Given the description of an element on the screen output the (x, y) to click on. 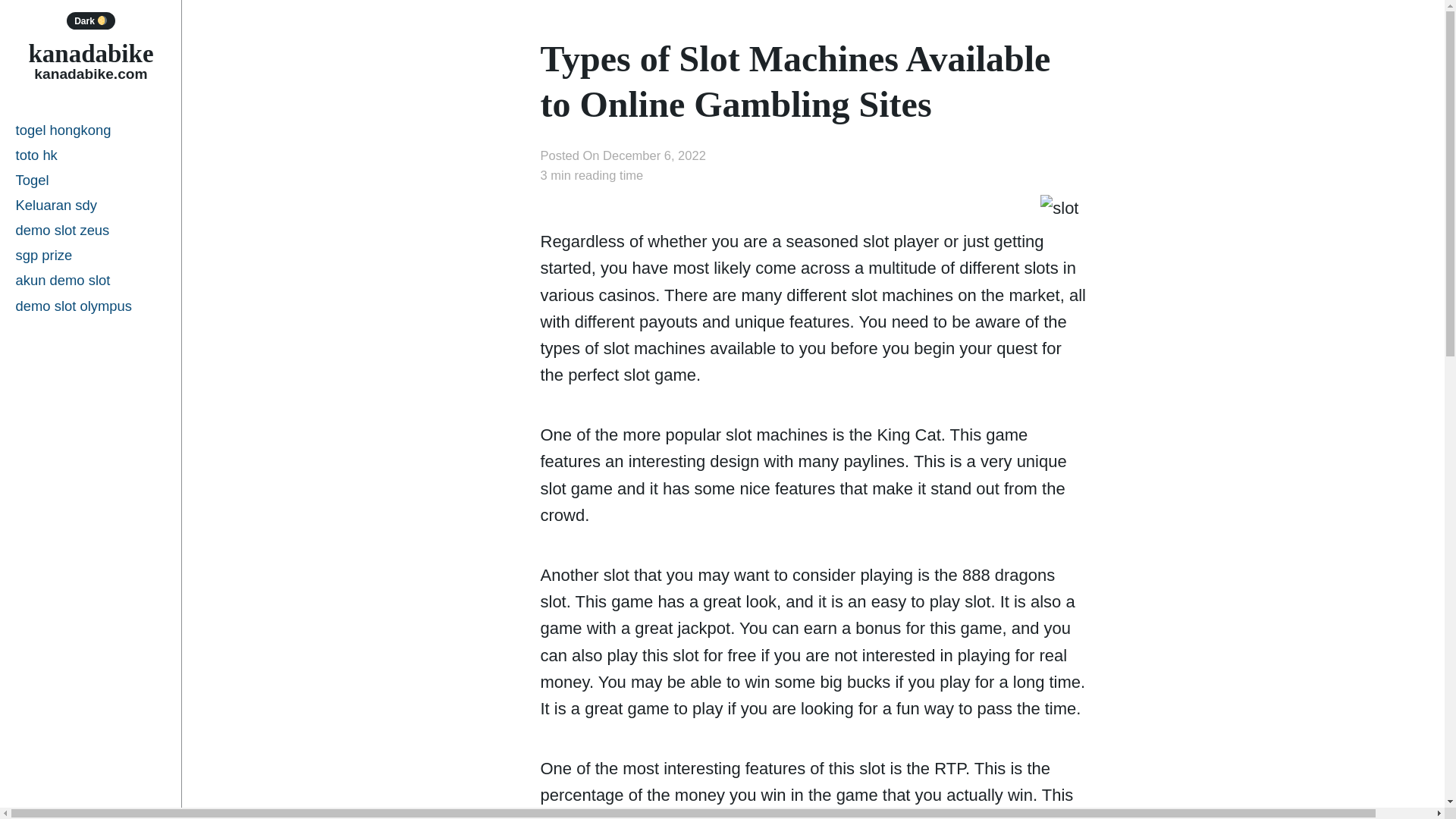
akun demo slot (90, 280)
sgp prize (90, 254)
Togel (90, 179)
demo slot olympus (90, 305)
Keluaran sdy (90, 204)
toto hk (90, 154)
demo slot zeus (90, 229)
kanadabike (89, 53)
togel hongkong (90, 129)
